Given the description of an element on the screen output the (x, y) to click on. 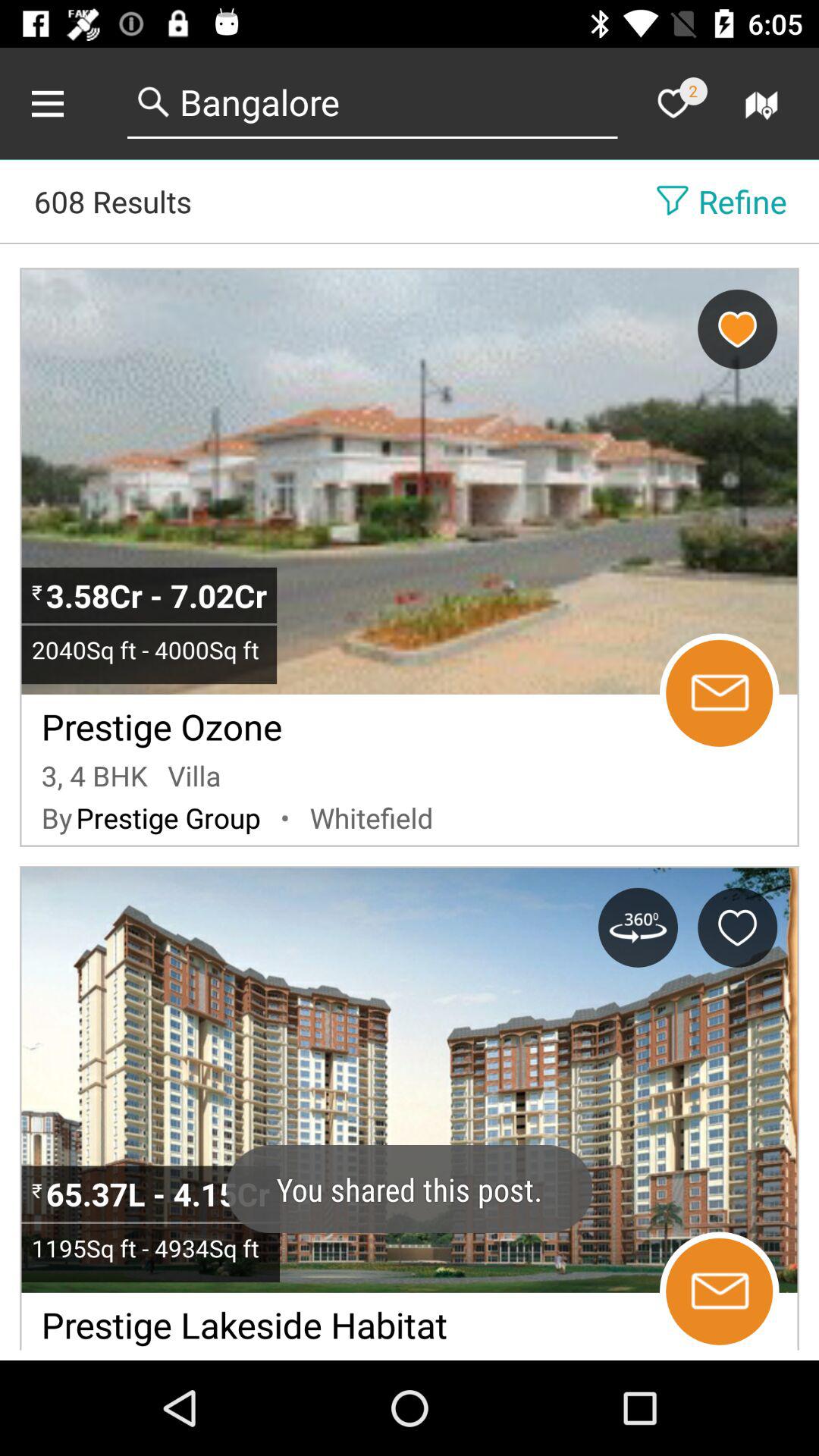
to remove favorite (737, 329)
